Given the description of an element on the screen output the (x, y) to click on. 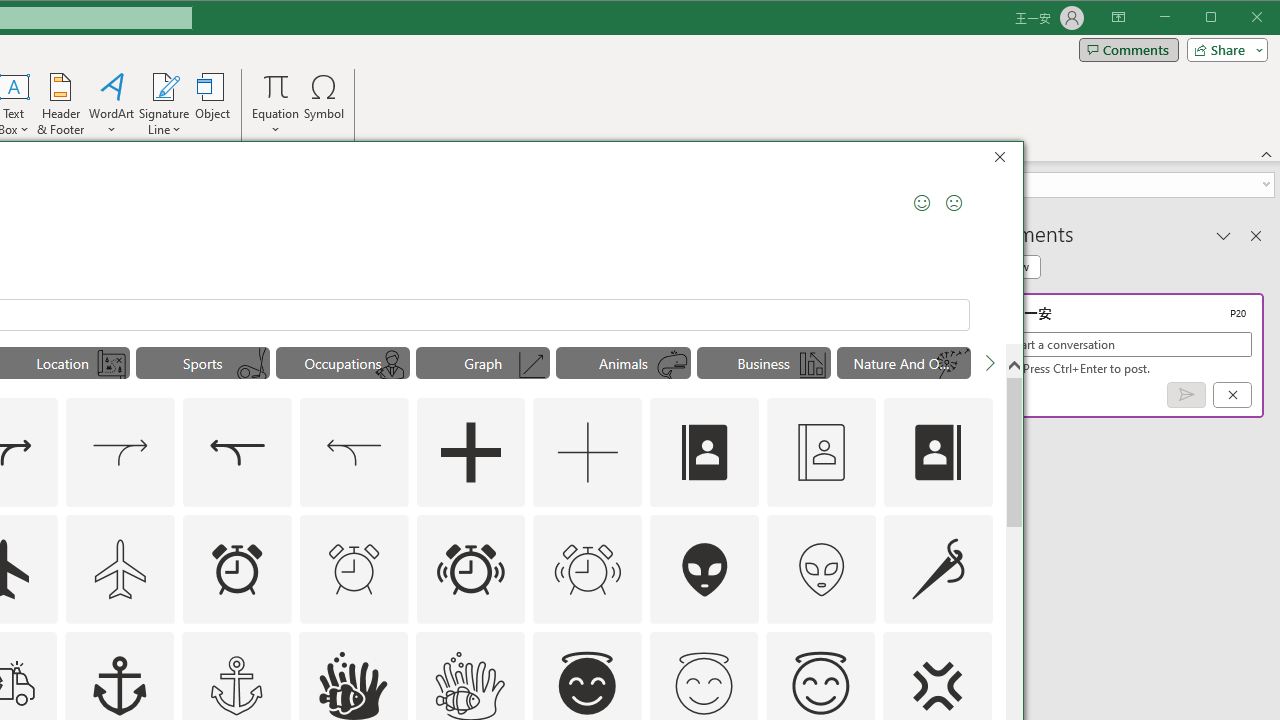
AutomationID: Icons_AlarmClock (236, 568)
AutomationID: Icons_Acquisition_RTL_M (353, 452)
"Animals" Icons. (623, 362)
Thumbnail (977, 646)
AutomationID: Icons (704, 683)
AutomationID: Icons_BarGraphUpwardTrend_RTL_M (812, 365)
AutomationID: Icons_LinearGraph_LTR_M (532, 365)
AutomationID: Icons_Dandelion_M (952, 365)
"Sports" Icons. (202, 362)
AutomationID: Icons_AlienFace_M (821, 568)
AutomationID: Icons_Whale_M (673, 365)
AutomationID: Icons_AlarmRinging (470, 568)
AutomationID: Icons_AddressBook_LTR_M (821, 452)
AutomationID: Icons_Acquisition_RTL (236, 452)
